Given the description of an element on the screen output the (x, y) to click on. 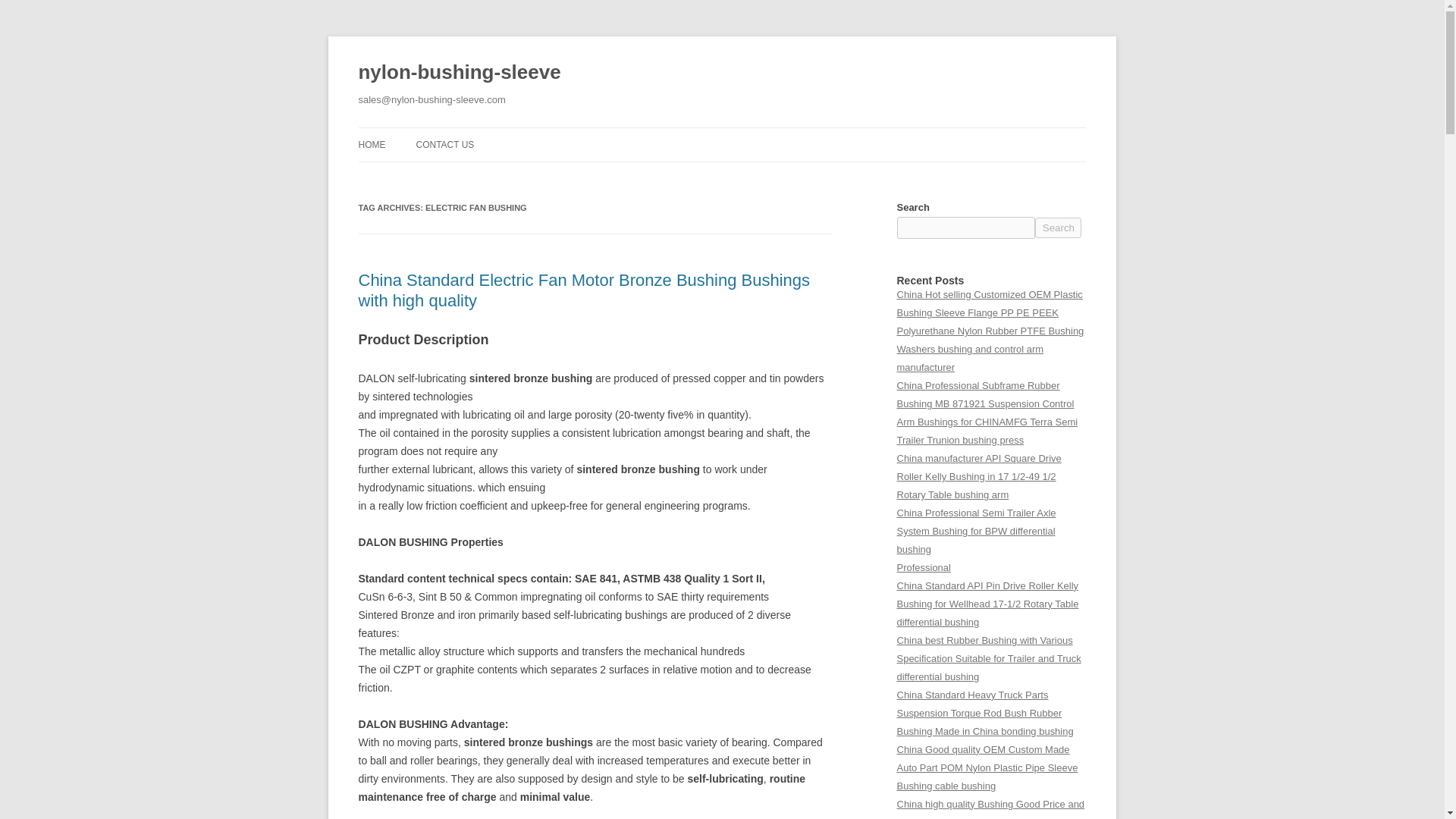
manufacturer (925, 367)
CONTACT US (444, 144)
Professional (923, 567)
Search (1058, 227)
nylon-bushing-sleeve (459, 72)
